Given the description of an element on the screen output the (x, y) to click on. 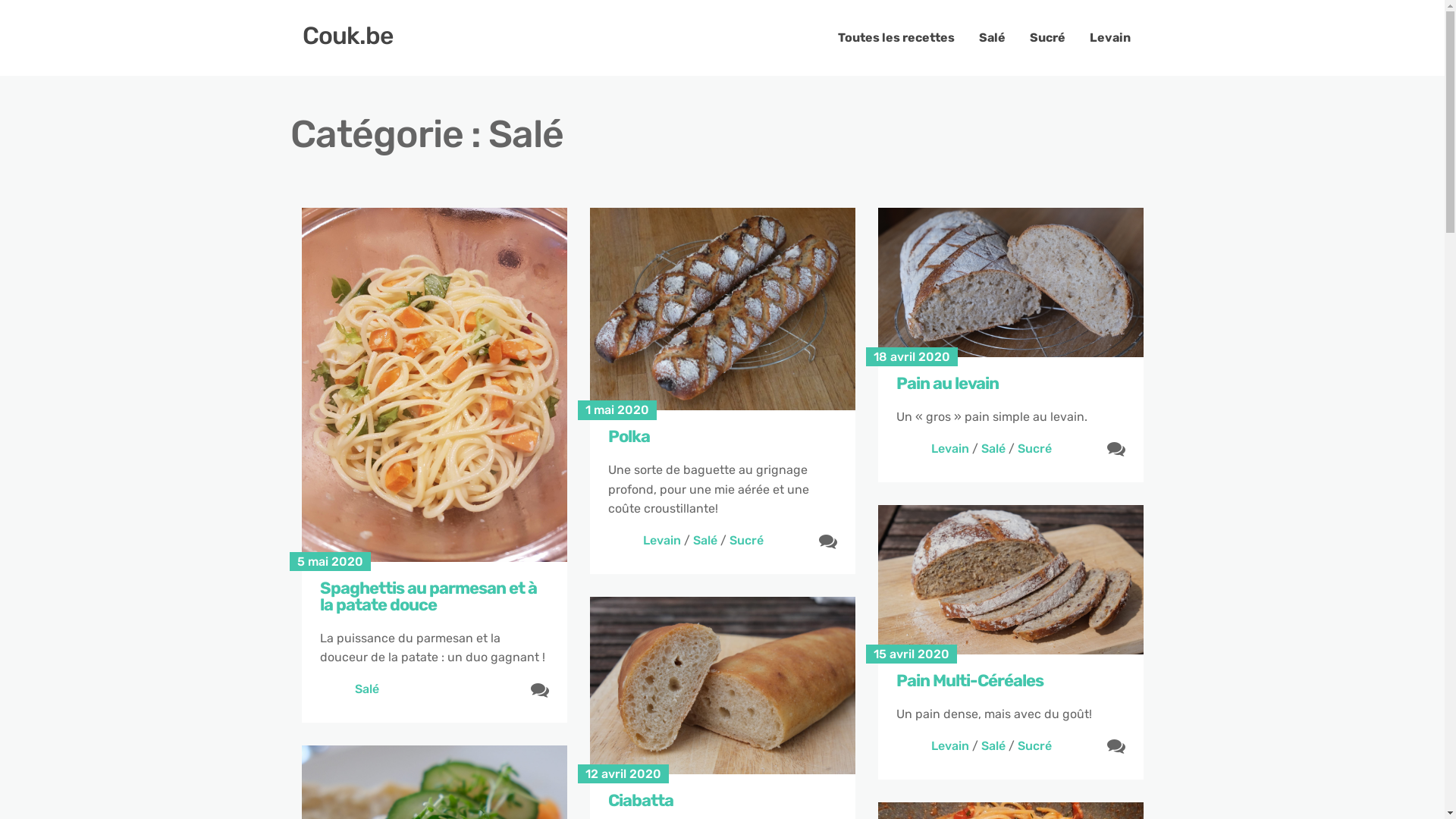
Polka Element type: text (722, 436)
Pain au levain Element type: text (1010, 383)
Ciabatta Element type: hover (722, 684)
Toutes les recettes Element type: text (895, 37)
Levain Element type: text (1109, 37)
Levain Element type: text (950, 745)
Ciabatta Element type: text (722, 800)
Levain Element type: text (950, 448)
Pain au levain Element type: hover (1010, 282)
Polka Element type: hover (722, 308)
Levain Element type: text (661, 540)
Couk.be Element type: text (346, 35)
